Given the description of an element on the screen output the (x, y) to click on. 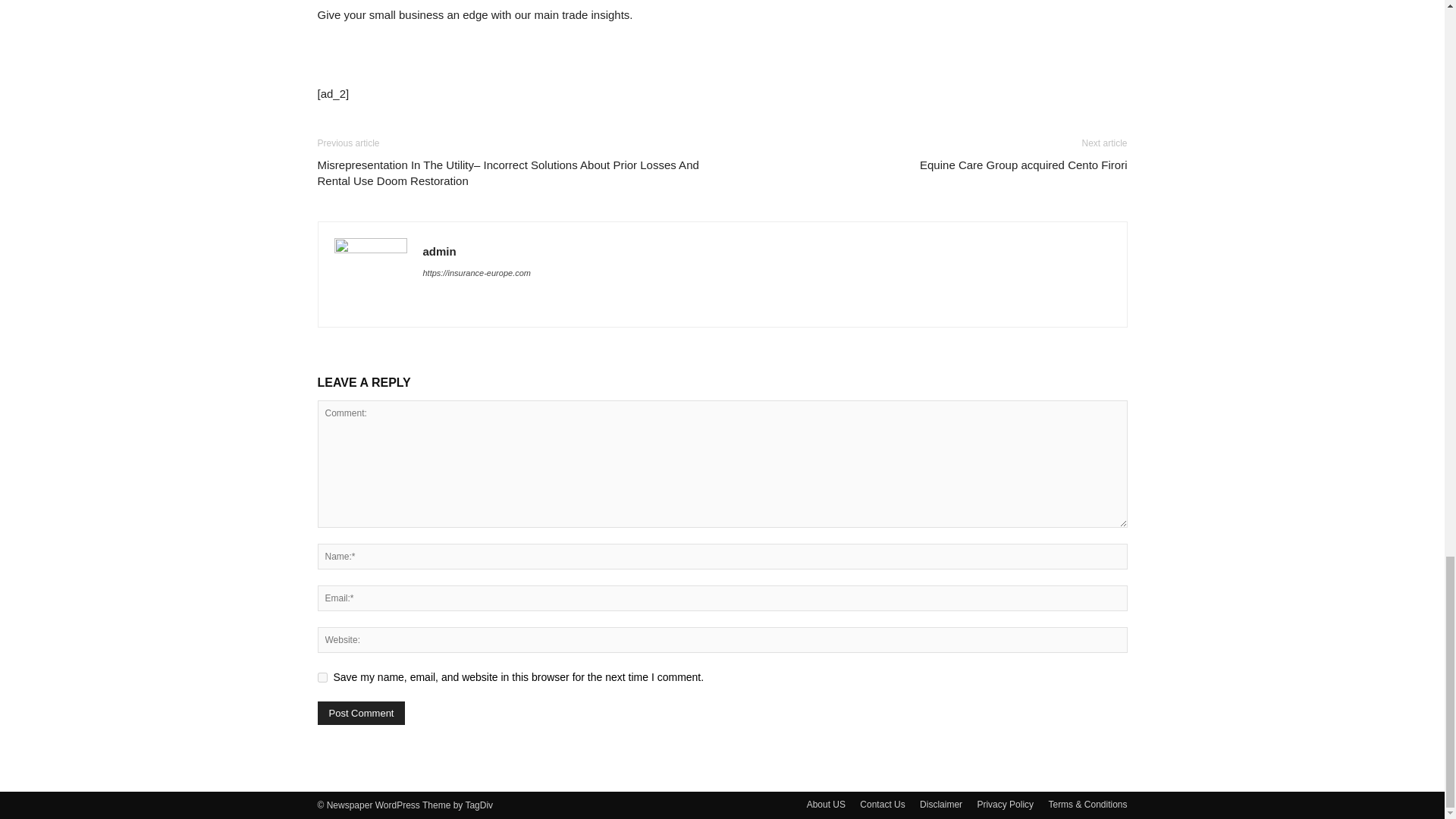
Equine Care Group acquired Cento Firori (1023, 164)
yes (321, 677)
admin (440, 250)
Post Comment (360, 712)
